Given the description of an element on the screen output the (x, y) to click on. 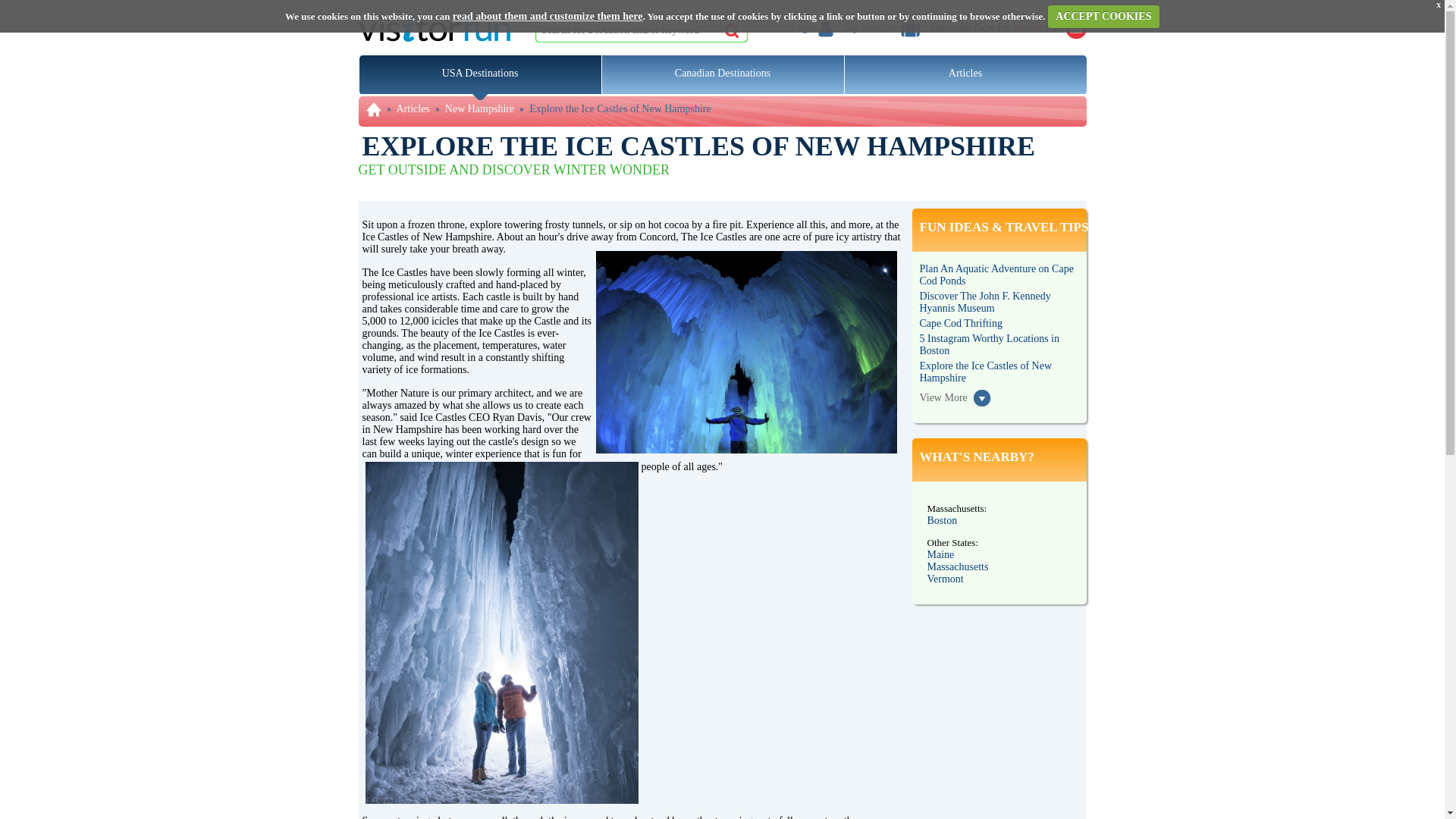
read about our cookies (547, 16)
read about them and customize them here (547, 16)
Articles (412, 108)
New Hampshire (479, 108)
Explore the Ice Castles of New Hampshire (619, 108)
